Given the description of an element on the screen output the (x, y) to click on. 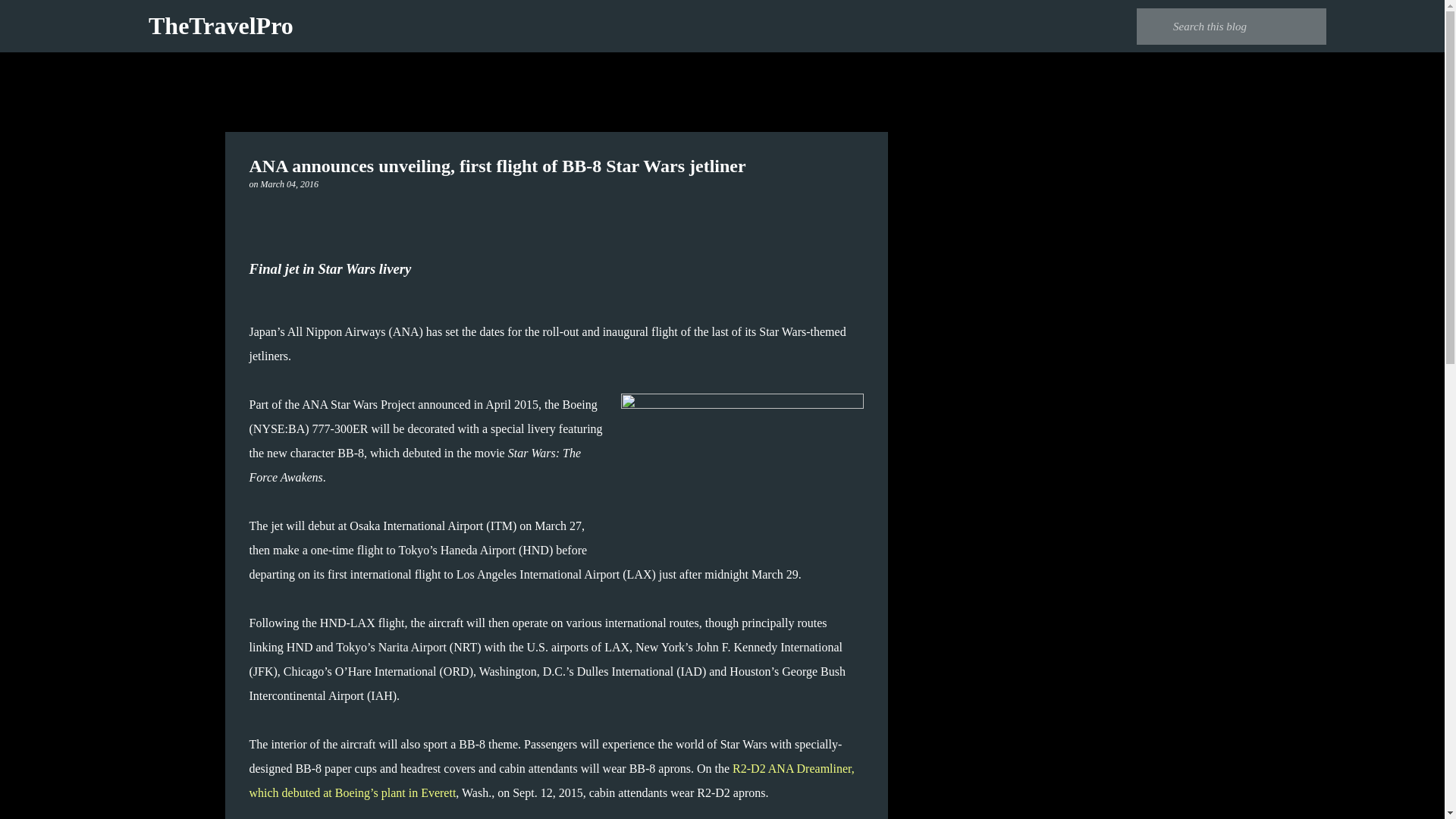
permanent link (289, 184)
March 04, 2016 (289, 184)
TheTravelPro (221, 25)
